Given the description of an element on the screen output the (x, y) to click on. 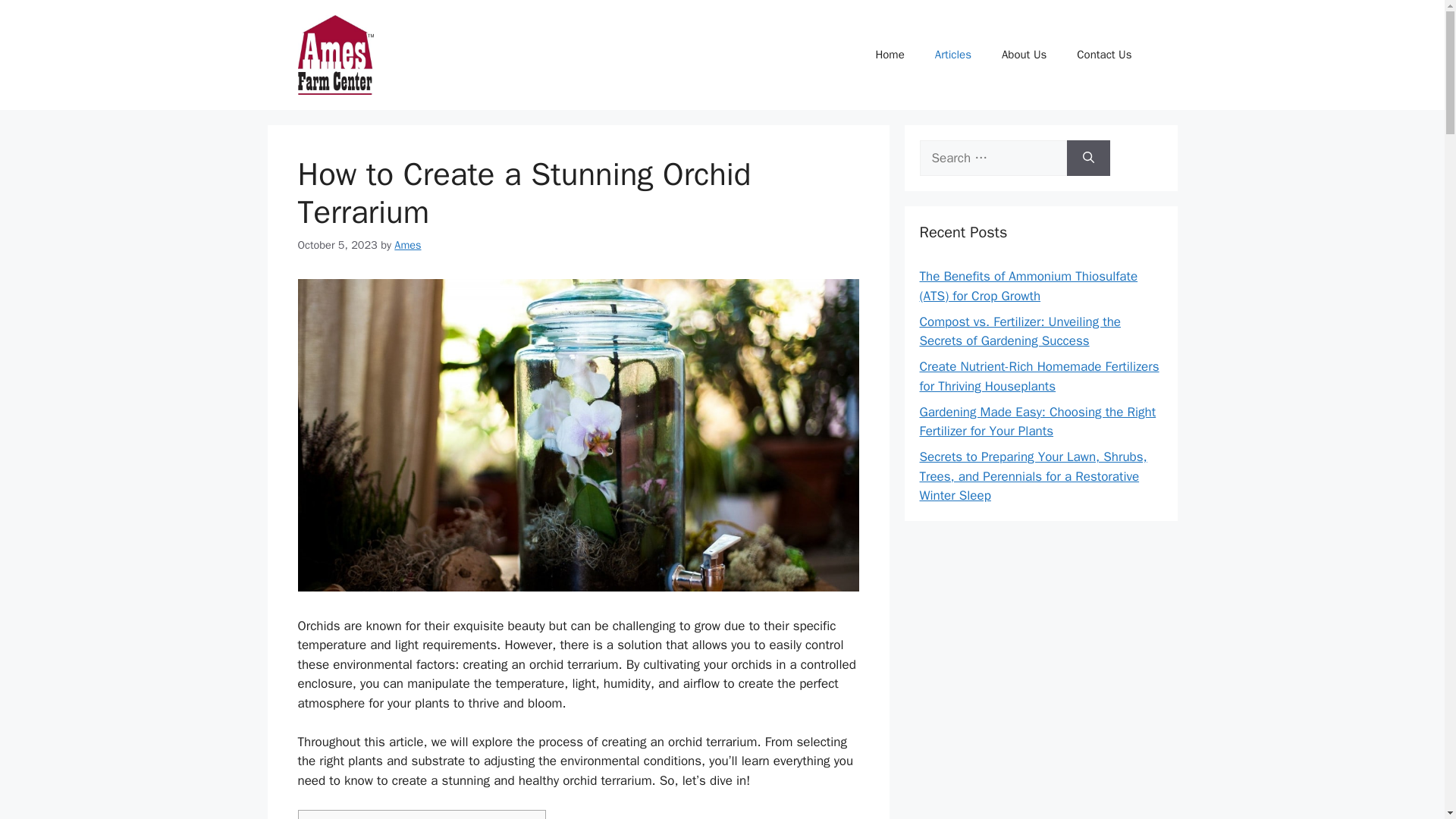
Home (889, 53)
Search for: (991, 158)
Contact Us (1104, 53)
View all posts by Ames (407, 244)
Articles (953, 53)
About Us (1024, 53)
Ames (407, 244)
